Given the description of an element on the screen output the (x, y) to click on. 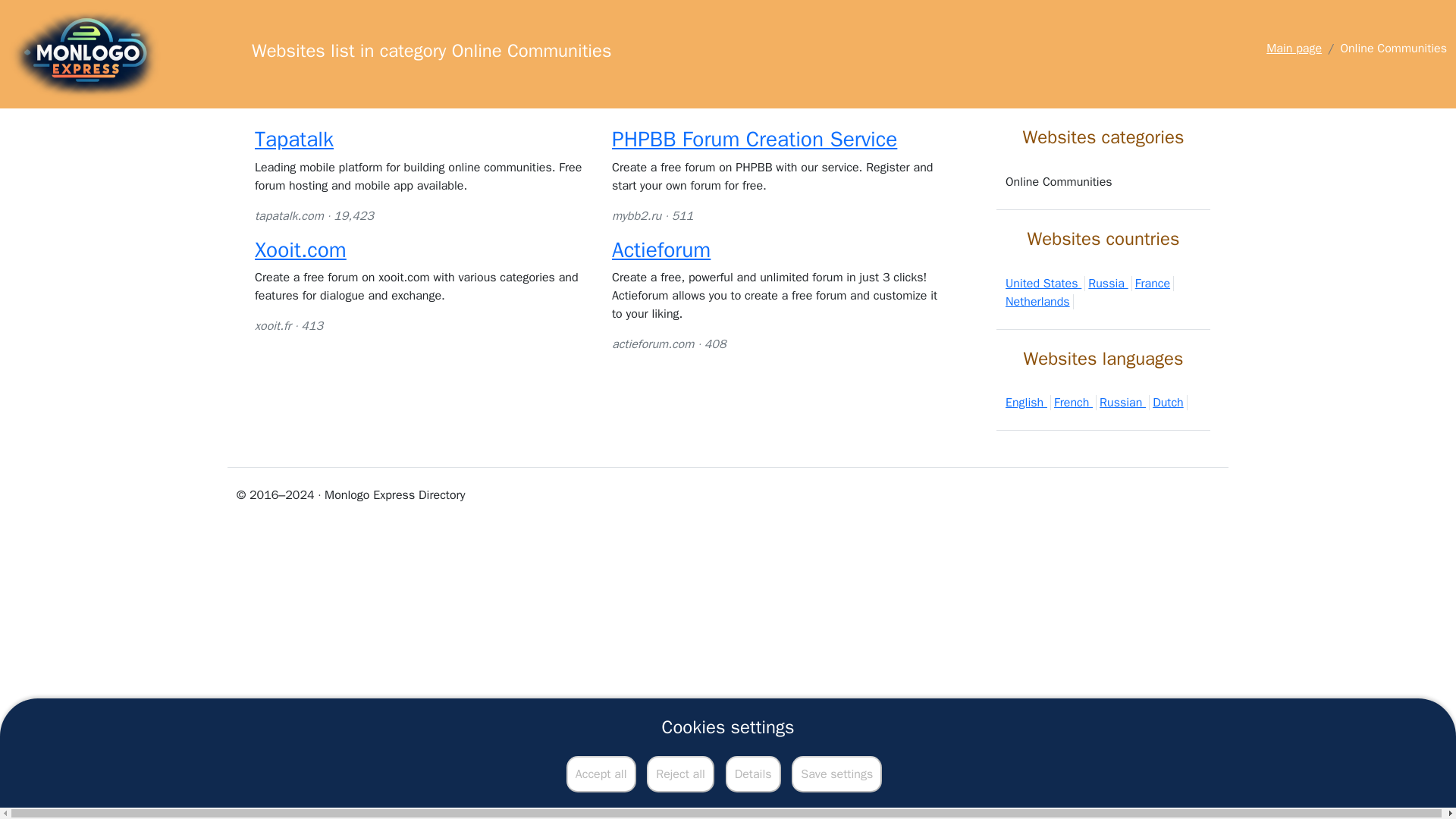
Russia (1109, 283)
Russian (1124, 402)
Tapatalk (293, 139)
Xooit.com (300, 249)
Actieforum (660, 249)
PHPBB Forum Creation Service (753, 139)
French (1075, 402)
Main page (1294, 48)
Dutch (1170, 402)
Netherlands (1040, 301)
France (1154, 283)
United States (1045, 283)
English (1028, 402)
